Given the description of an element on the screen output the (x, y) to click on. 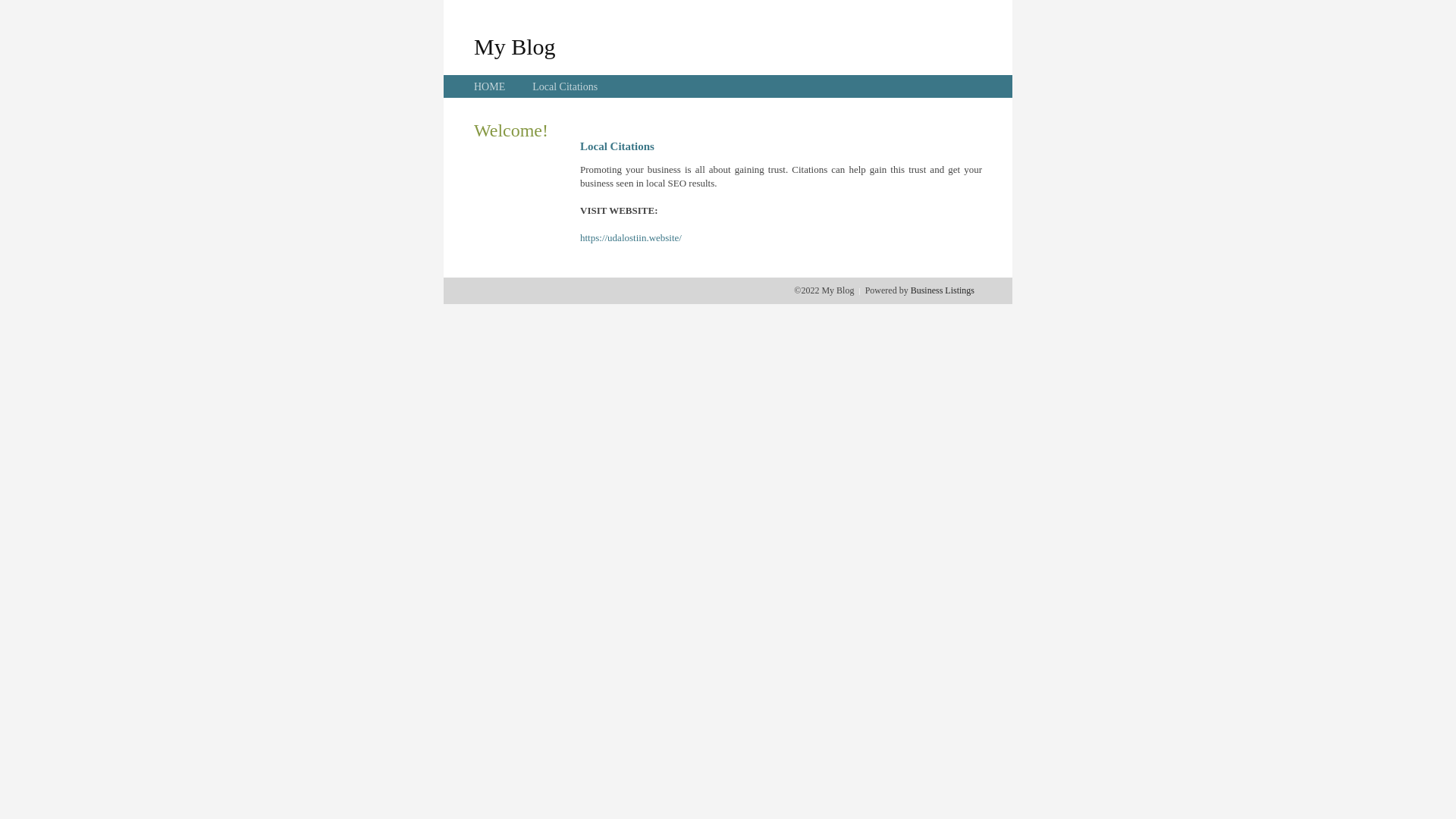
My Blog Element type: text (514, 46)
Business Listings Element type: text (942, 290)
https://udalostiin.website/ Element type: text (630, 237)
Local Citations Element type: text (564, 86)
HOME Element type: text (489, 86)
